Given the description of an element on the screen output the (x, y) to click on. 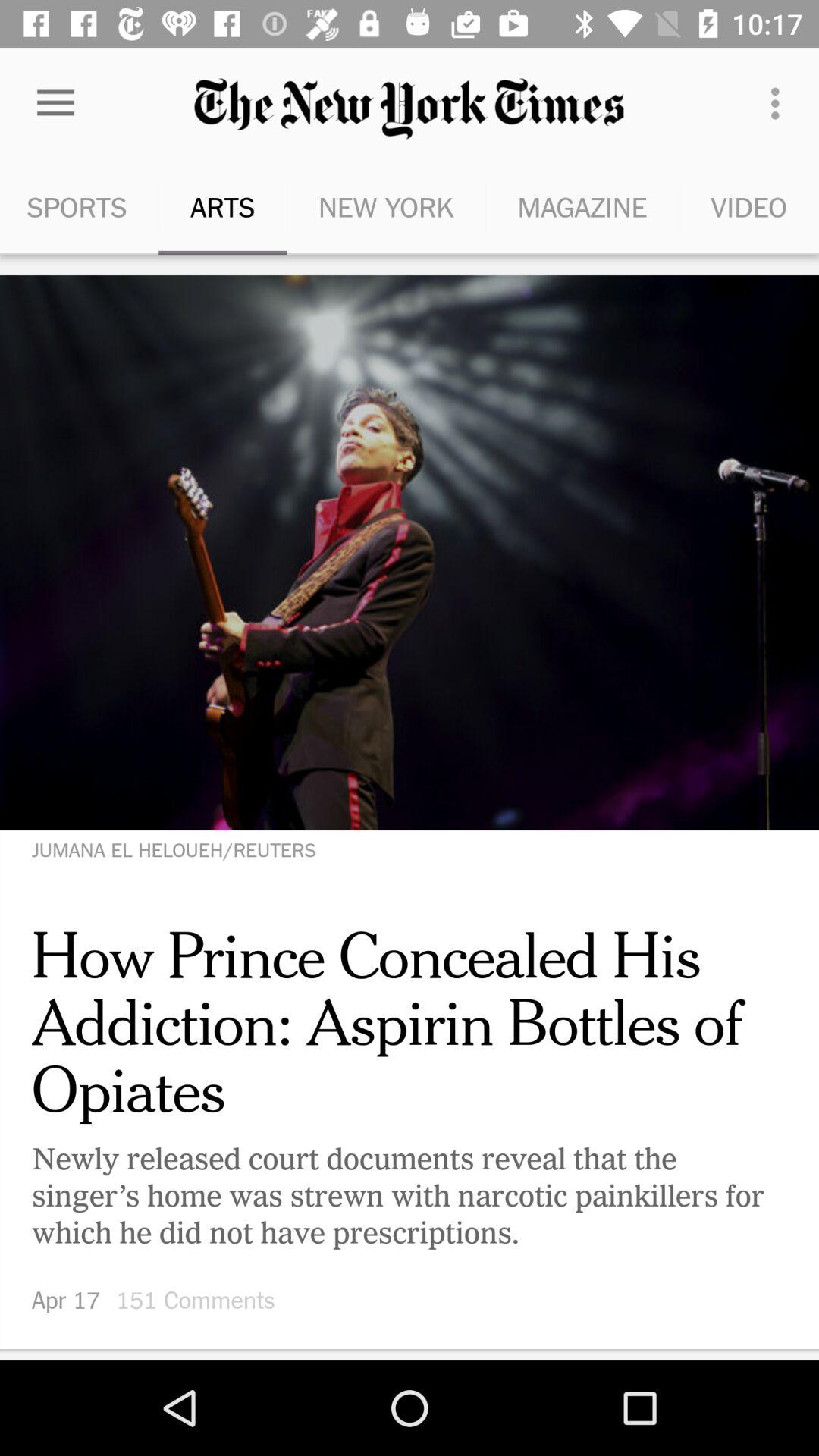
press the arts (222, 206)
